Given the description of an element on the screen output the (x, y) to click on. 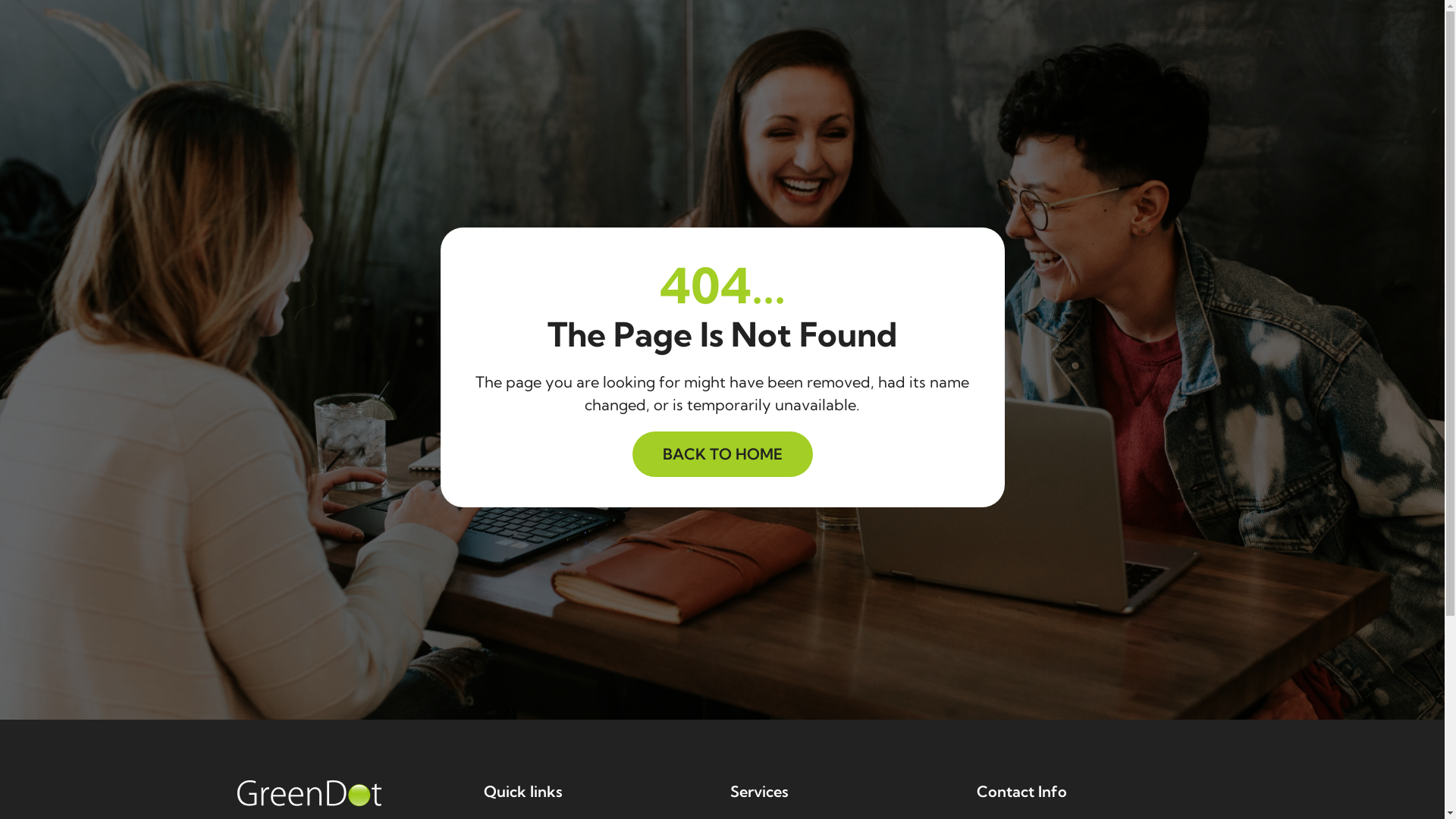
BACK TO HOME Element type: text (722, 453)
